Given the description of an element on the screen output the (x, y) to click on. 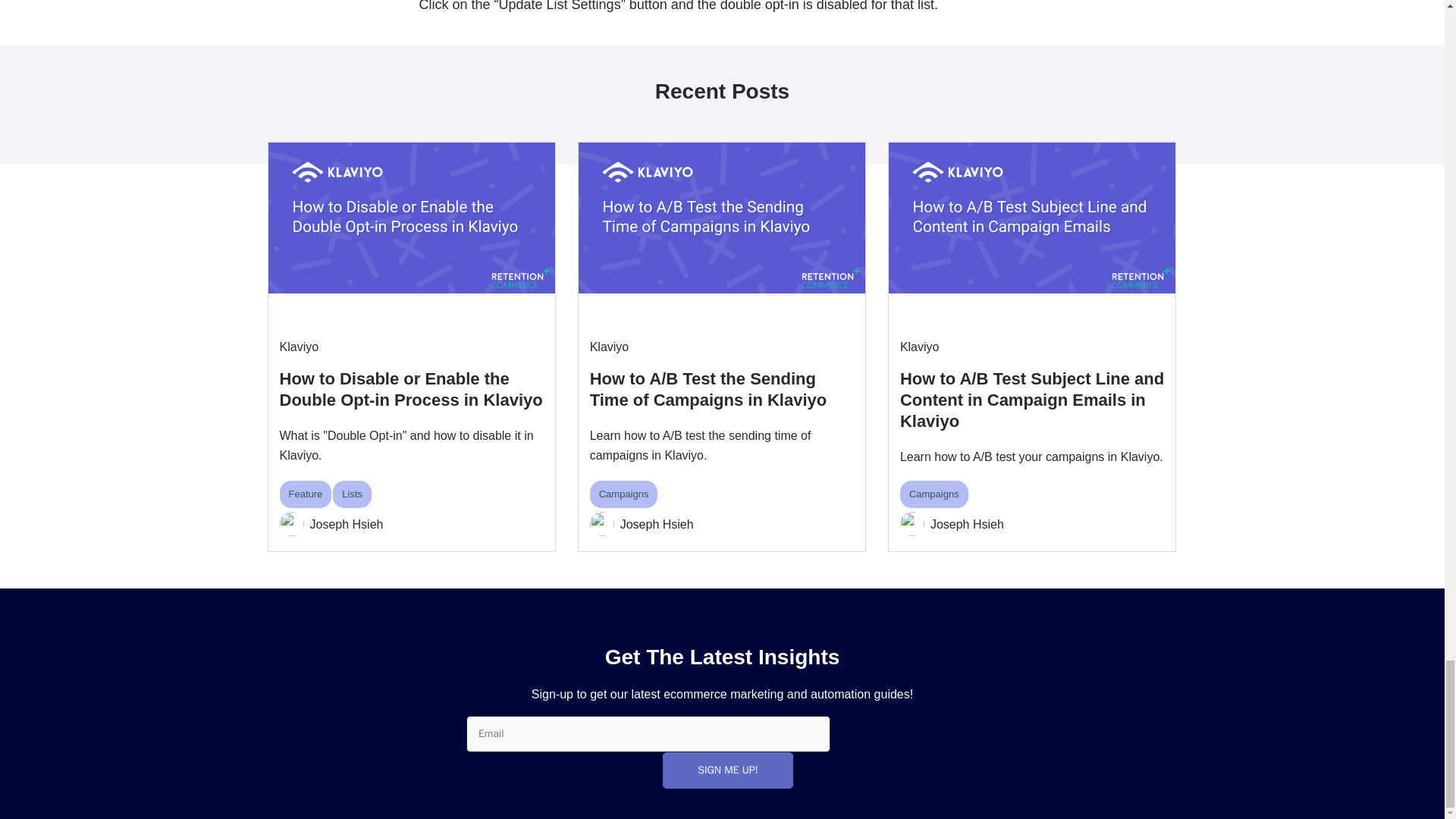
SIGN ME UP! (727, 770)
